Given the description of an element on the screen output the (x, y) to click on. 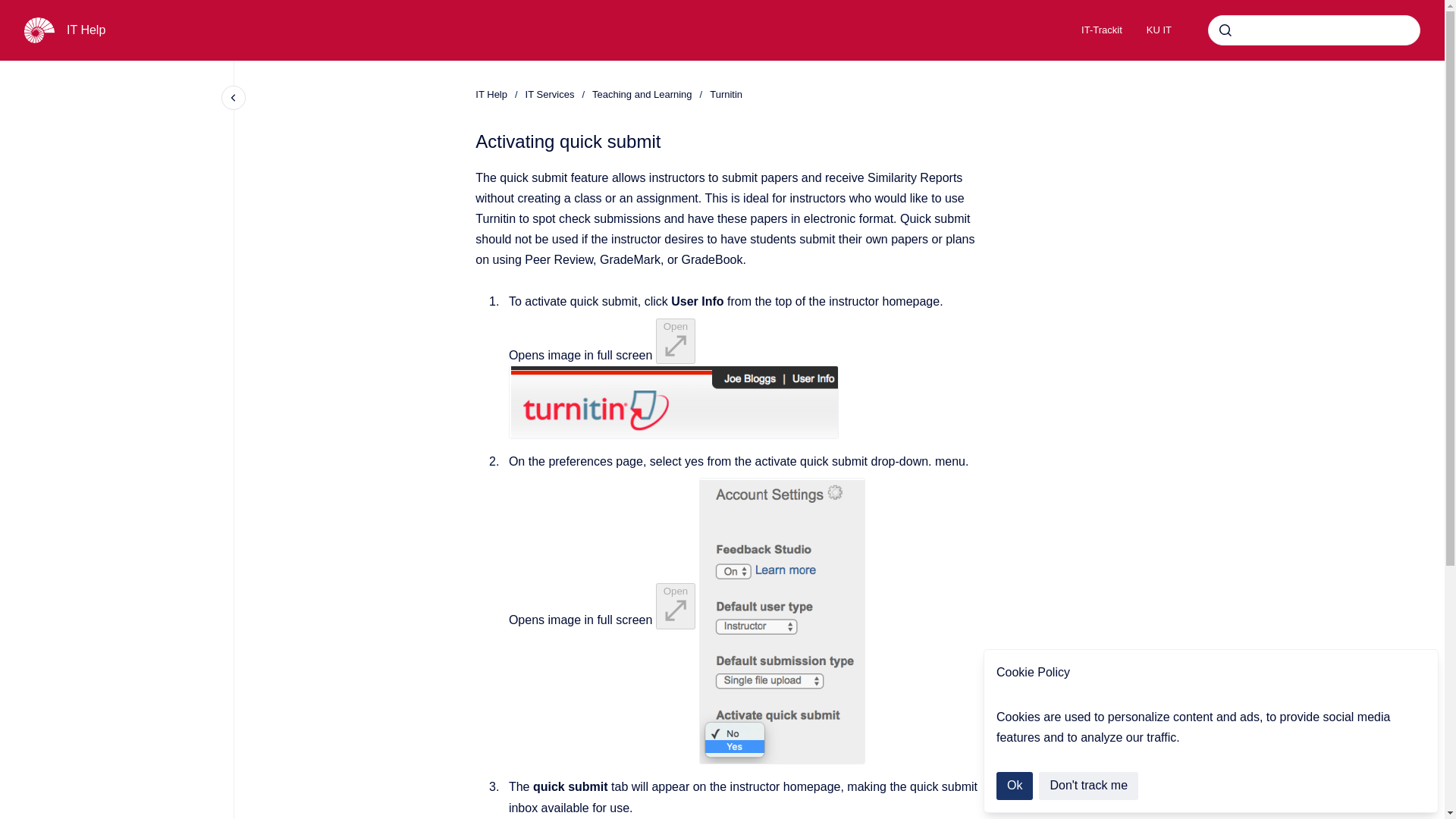
IT Help (491, 94)
Ok (1013, 786)
Turnitin (726, 94)
Don't track me (1088, 786)
IT Services (550, 94)
Go to homepage (39, 30)
IT Help (85, 29)
KU IT (1158, 29)
IT-Trackit (1101, 29)
Teaching and Learning (642, 94)
